Given the description of an element on the screen output the (x, y) to click on. 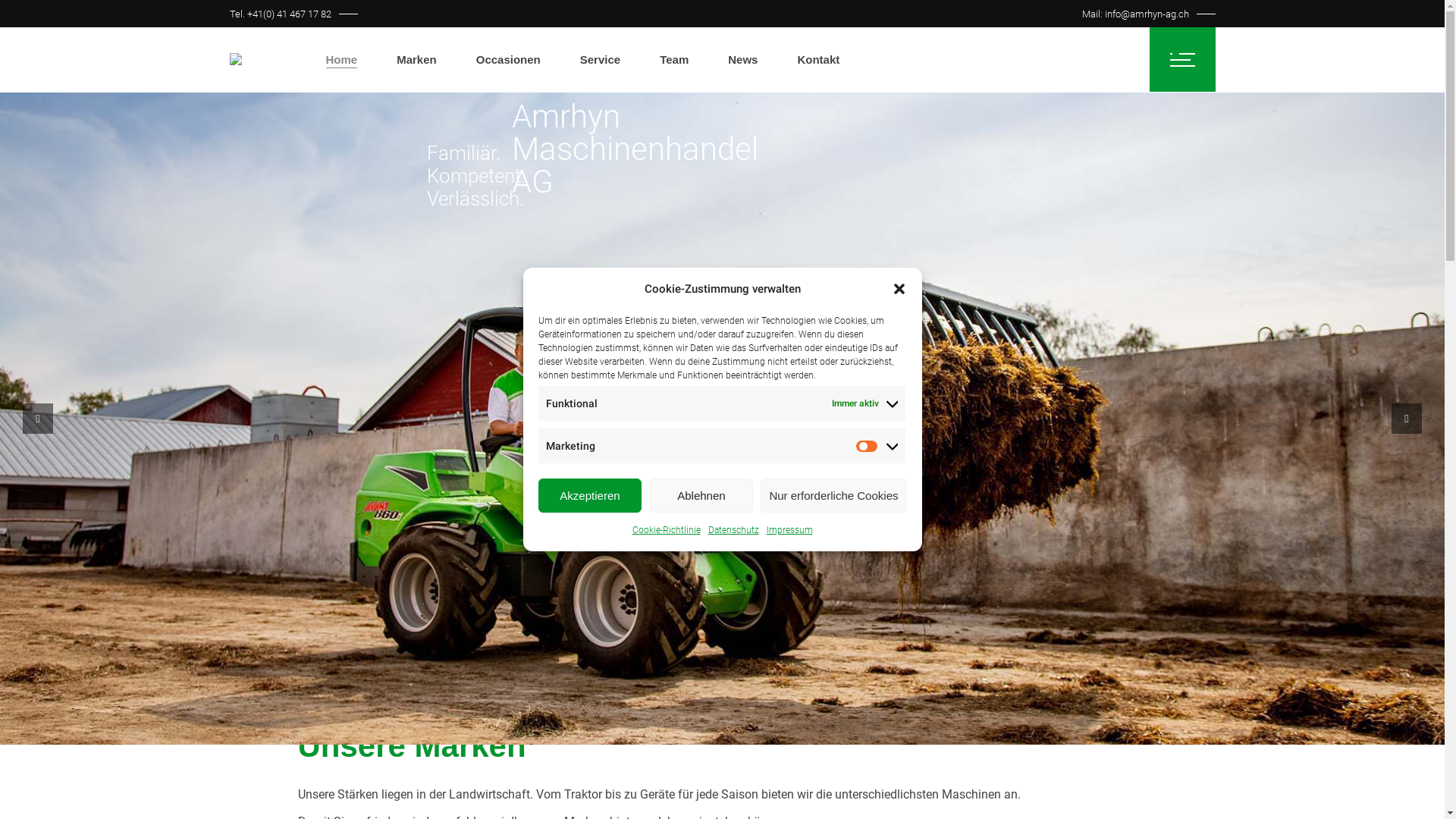
Home Element type: text (341, 59)
Service Element type: text (600, 59)
Nur erforderliche Cookies Element type: text (833, 495)
Mail: info@amrhyn-ag.ch Element type: text (1134, 13)
Impressum Element type: text (788, 529)
Occasionen Element type: text (508, 59)
Akzeptieren Element type: text (590, 495)
Team Element type: text (673, 59)
Datenschutz Element type: text (733, 529)
Tel. +41(0) 41 467 17 82 Element type: text (279, 13)
Marken Element type: text (416, 59)
Kontakt Element type: text (818, 59)
Cookie-Richtlinie Element type: text (666, 529)
Ablehnen Element type: text (701, 495)
News Element type: text (742, 59)
